Given the description of an element on the screen output the (x, y) to click on. 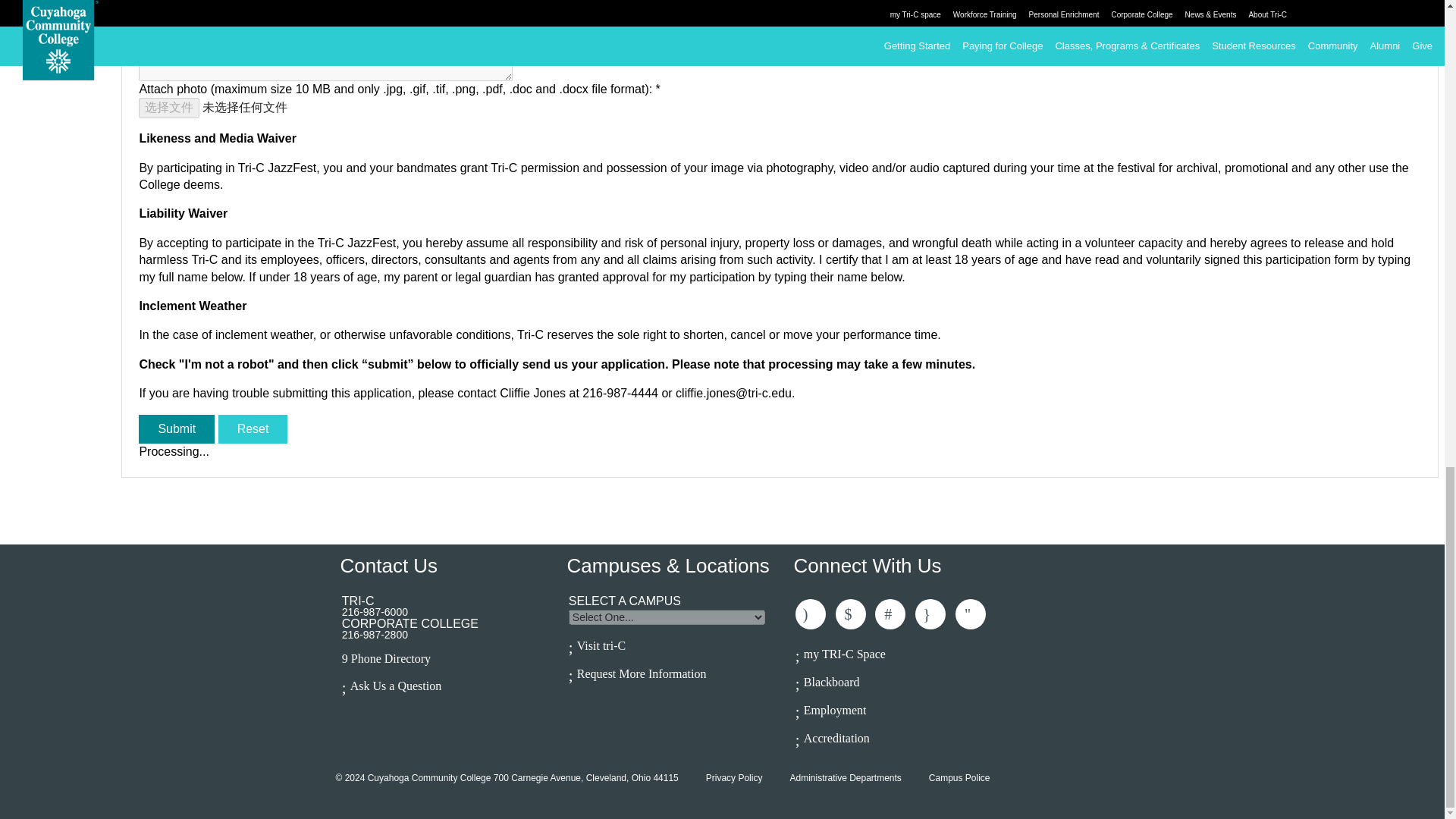
Follow Us On Instagram (929, 613)
Administrative Departments (845, 777)
Accreditation (902, 737)
Submit (176, 428)
Connected With Us On LinkedIn (890, 613)
Request More Information (676, 672)
Campus Police (959, 777)
my TRI-C Space (902, 652)
Follow Us On Twitter (850, 613)
Reset (253, 428)
